Given the description of an element on the screen output the (x, y) to click on. 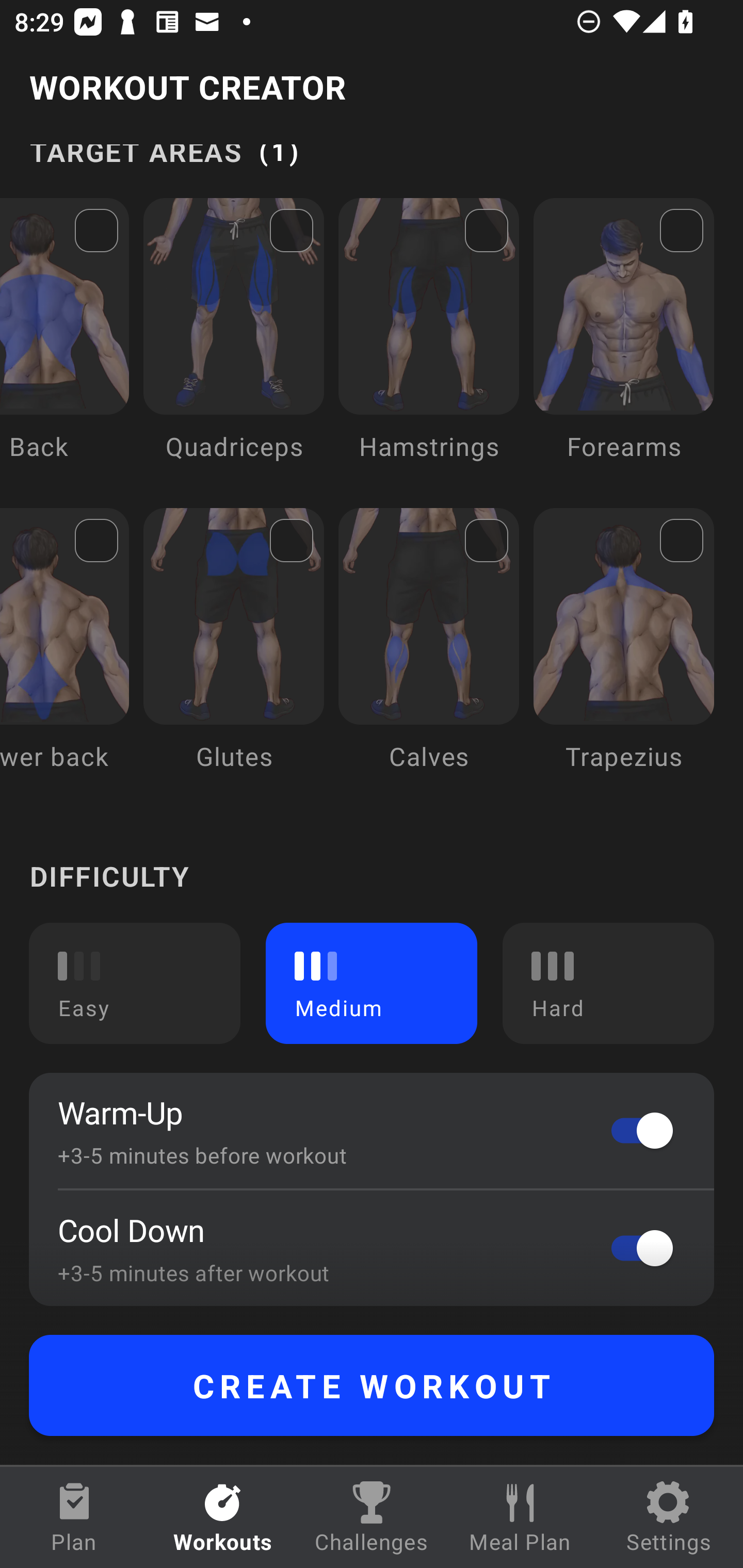
Back (64, 343)
Quadriceps (233, 343)
Hamstrings (428, 343)
Forearms (623, 343)
Lower back (64, 653)
Glutes (233, 653)
Calves (428, 653)
Trapezius (623, 653)
Easy (134, 982)
Hard (608, 982)
CREATE WORKOUT (371, 1385)
 Plan  (74, 1517)
 Challenges  (371, 1517)
 Meal Plan  (519, 1517)
 Settings  (668, 1517)
